Given the description of an element on the screen output the (x, y) to click on. 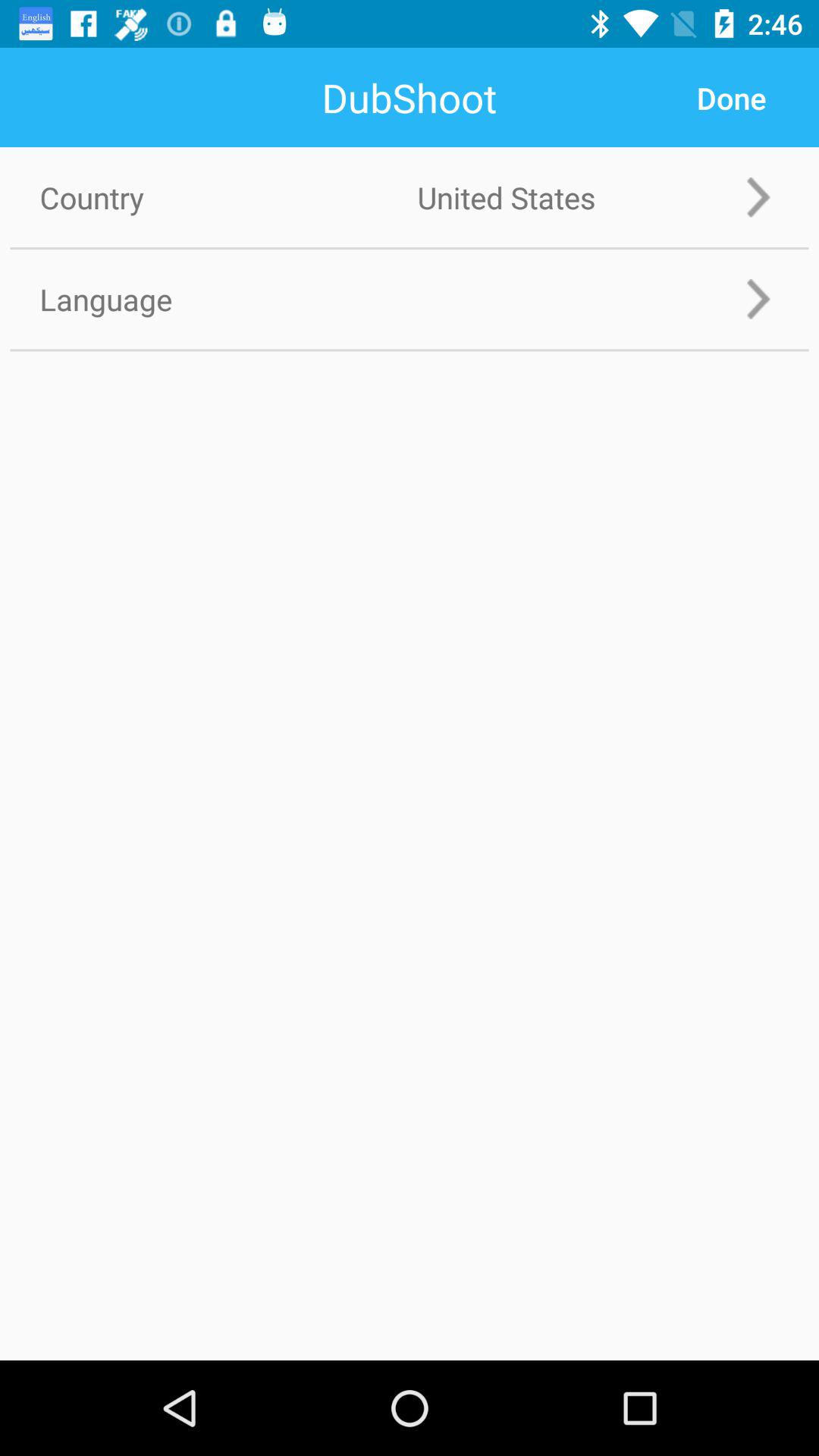
tap the icon above the united states app (731, 97)
